Given the description of an element on the screen output the (x, y) to click on. 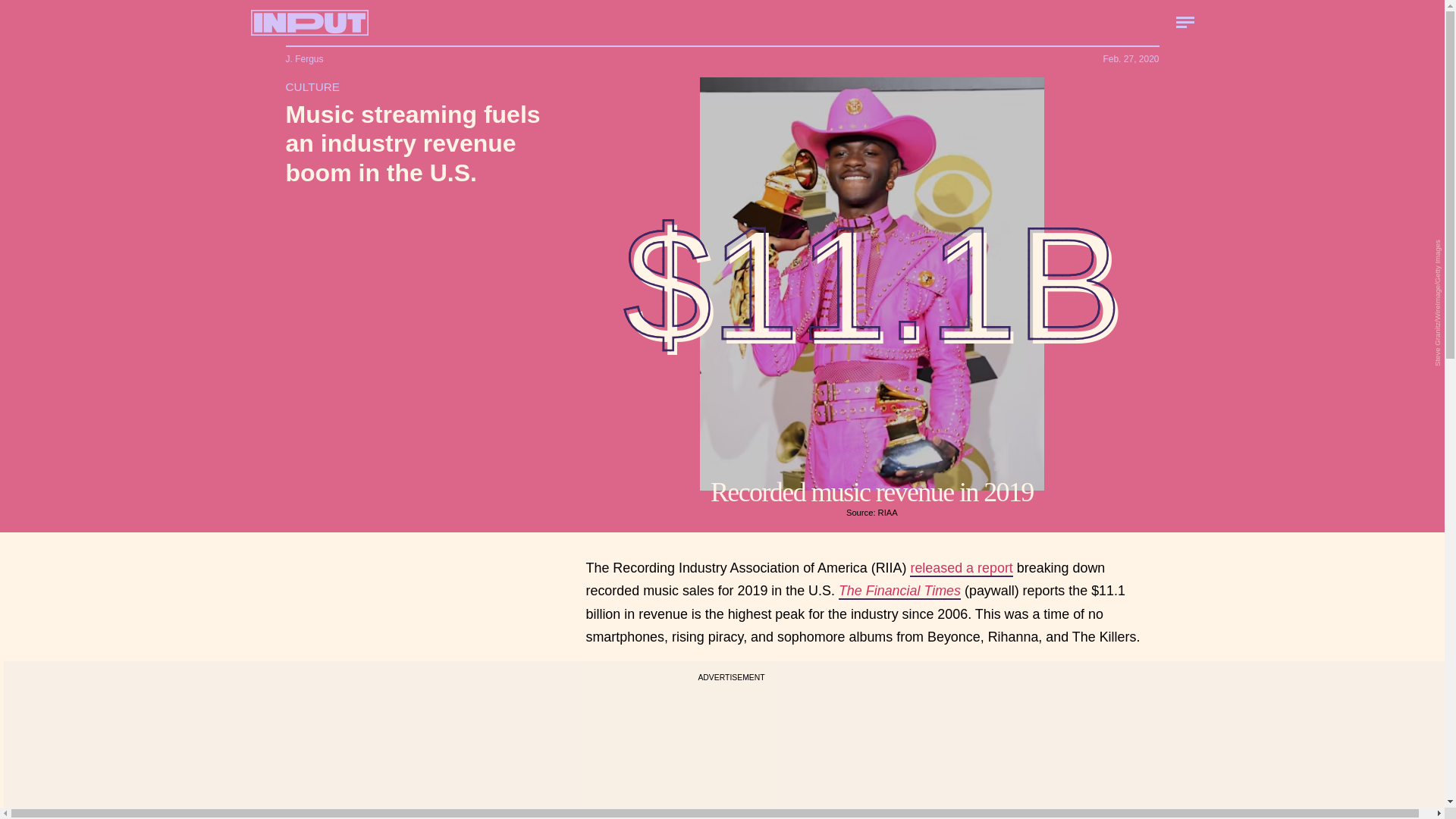
The Financial Times (899, 591)
J. Fergus (304, 59)
released a report (960, 568)
Input (309, 22)
